Given the description of an element on the screen output the (x, y) to click on. 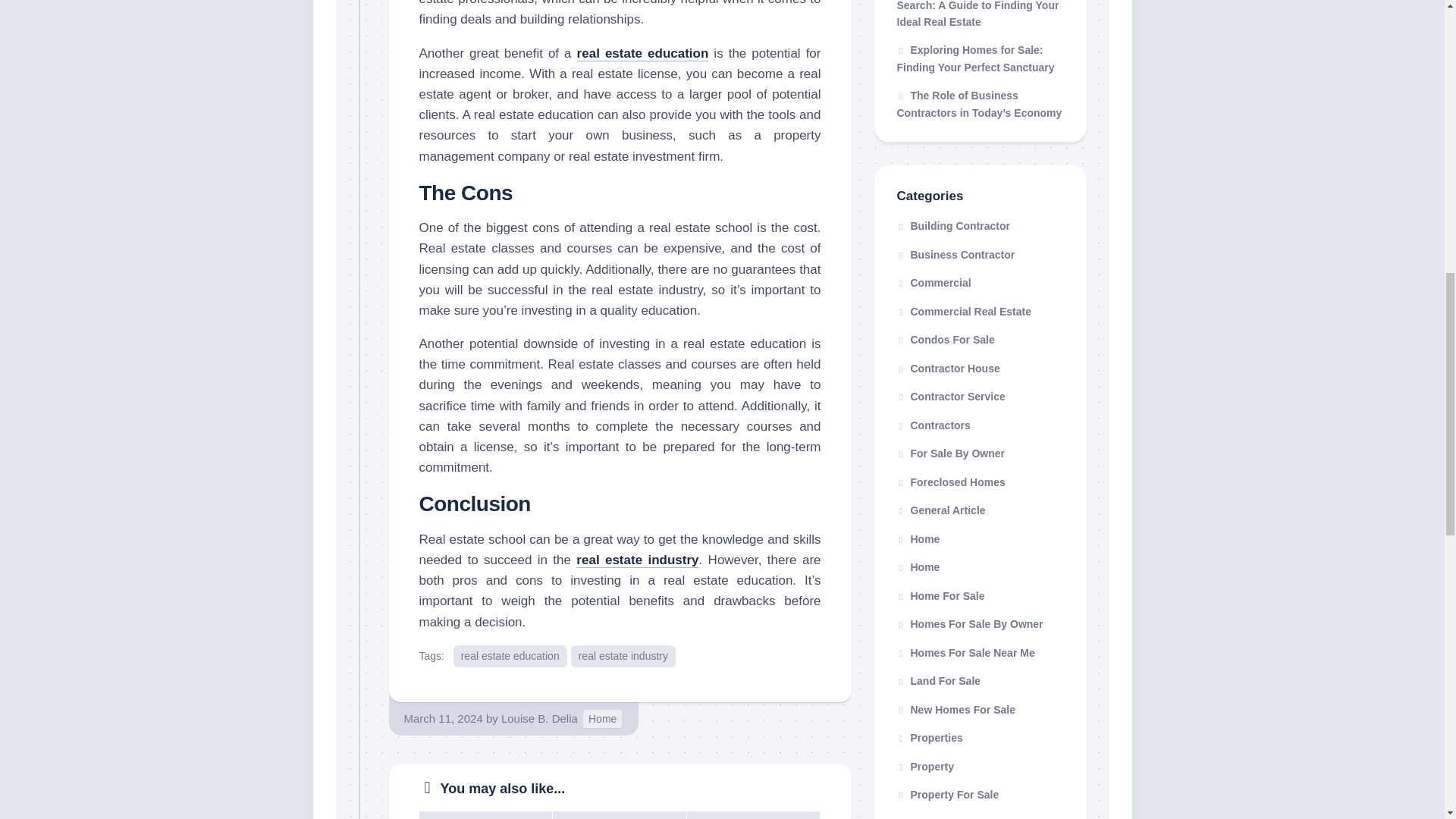
real estate industry (637, 559)
real estate education (509, 656)
Posts by Louise B. Delia (539, 717)
Home (602, 719)
real estate industry (622, 656)
real estate education (642, 52)
Louise B. Delia (539, 717)
